Given the description of an element on the screen output the (x, y) to click on. 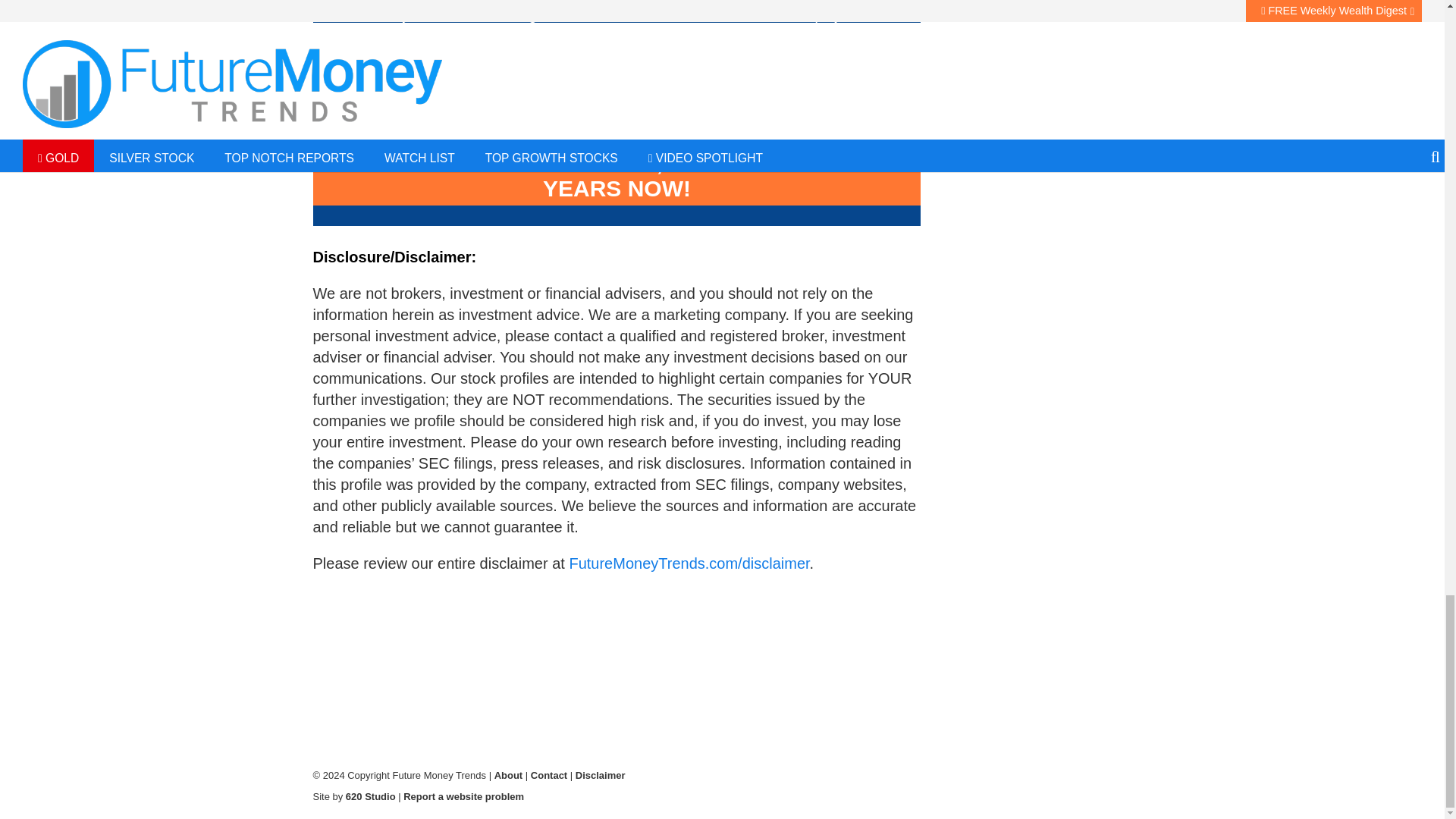
Contact (549, 775)
620 Studio (371, 796)
About (508, 775)
Disclaimer (600, 775)
Report a website problem (463, 796)
Fortify Your Knowledge, Prepare For Bear Years NOW! (616, 175)
Fortify Your Knowledge, Prepare For Bear Years NOW! (616, 175)
